Given the description of an element on the screen output the (x, y) to click on. 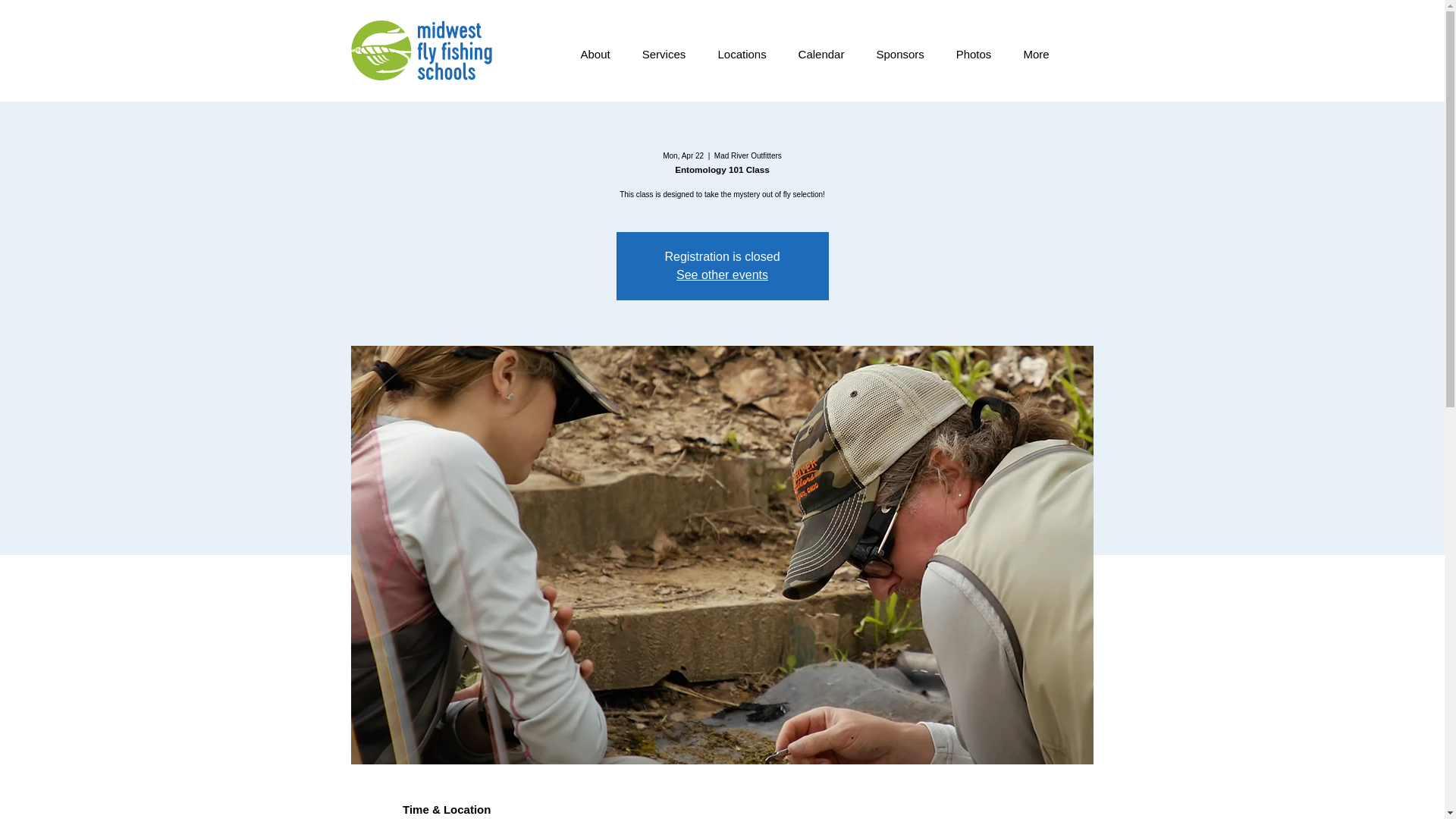
Services (663, 54)
About (595, 54)
Calendar (821, 54)
Locations (742, 54)
See other events (722, 274)
Photos (973, 54)
Sponsors (899, 54)
